Given the description of an element on the screen output the (x, y) to click on. 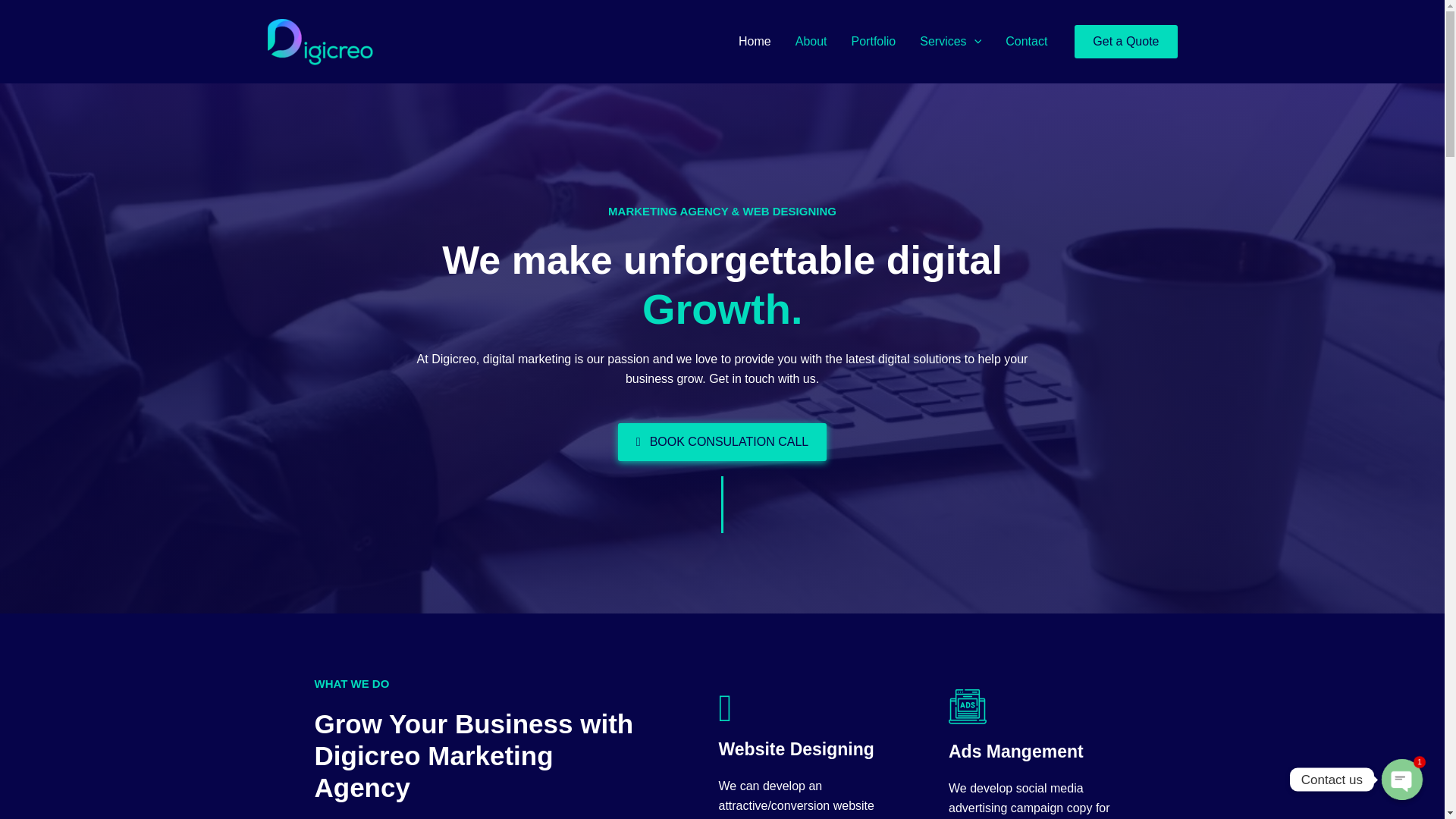
BOOK CONSULATION CALL (722, 442)
Services (949, 41)
Get a Quote (1125, 41)
